Given the description of an element on the screen output the (x, y) to click on. 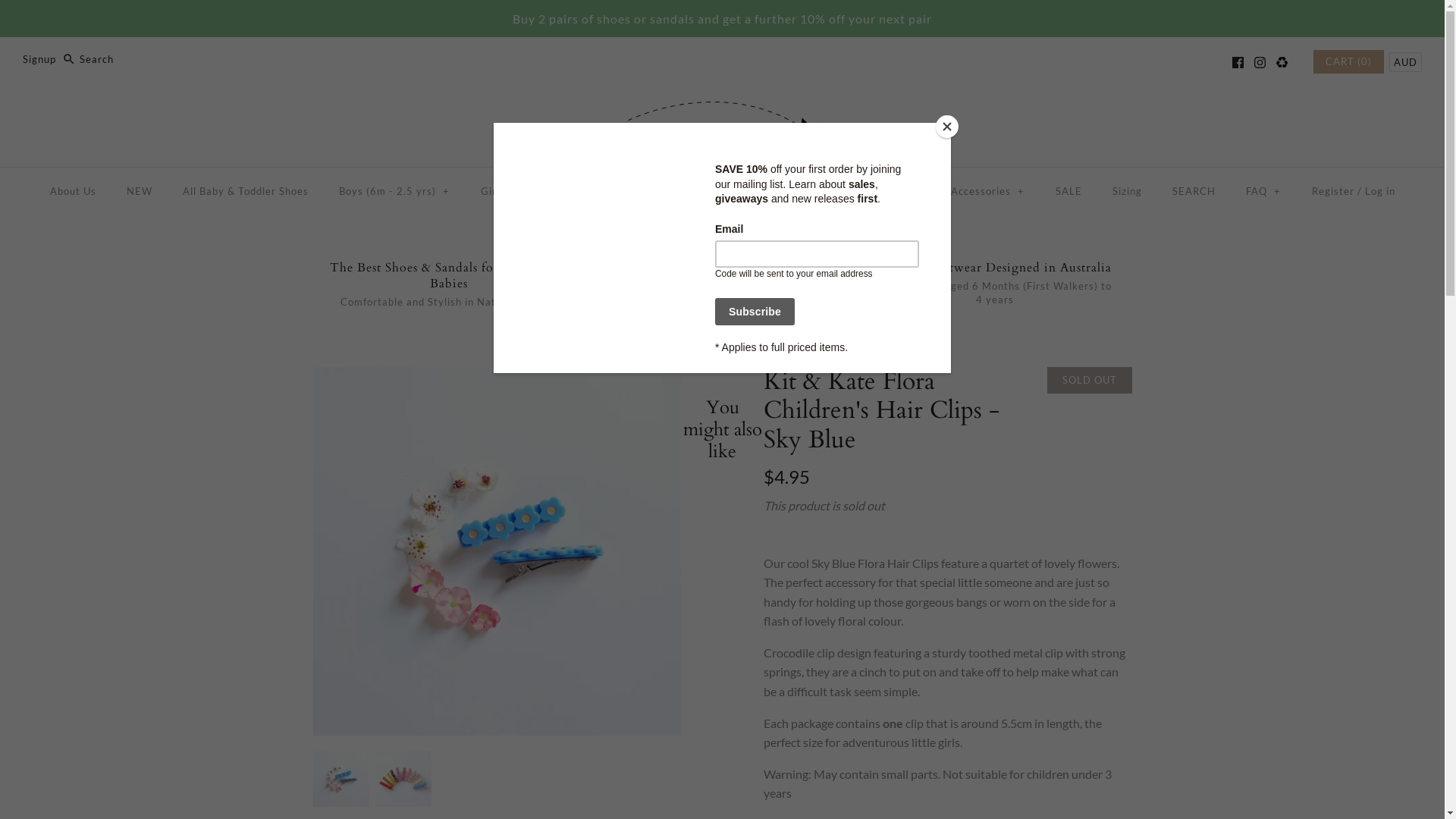
Boys (6m - 2.5 yrs) + Element type: text (393, 190)
Sizing Element type: text (1126, 190)
Kit & Kate Flora  Children's Hair Clips - Sky Blue Element type: hover (402, 778)
Signup Element type: text (39, 59)
SALE Element type: text (1068, 190)
Older Children (2.5-4 yrs) Element type: text (854, 190)
Instagram Element type: text (1259, 62)
Kit & Kate Flora  Children's Hair Clips - Sky Blue Element type: hover (496, 551)
Facebook Element type: text (1236, 62)
Kit & Kate Flora  Children's Hair Clips - Sky Blue Element type: hover (340, 778)
FAQ + Element type: text (1262, 190)
SEARCH Element type: text (1193, 190)
CART (0) Element type: text (1348, 61)
Girls (6m - 2.5 yrs) + Element type: text (536, 190)
All Baby & Toddler Shoes Element type: text (244, 190)
Accessories + Element type: text (987, 190)
Kit & Kate Element type: hover (722, 110)
NEW Element type: text (138, 190)
About Us Element type: text (72, 190)
Summer Sandals (6m-4yrs) Element type: text (689, 190)
Log in Element type: text (1380, 190)
Register Element type: text (1332, 190)
